Given the description of an element on the screen output the (x, y) to click on. 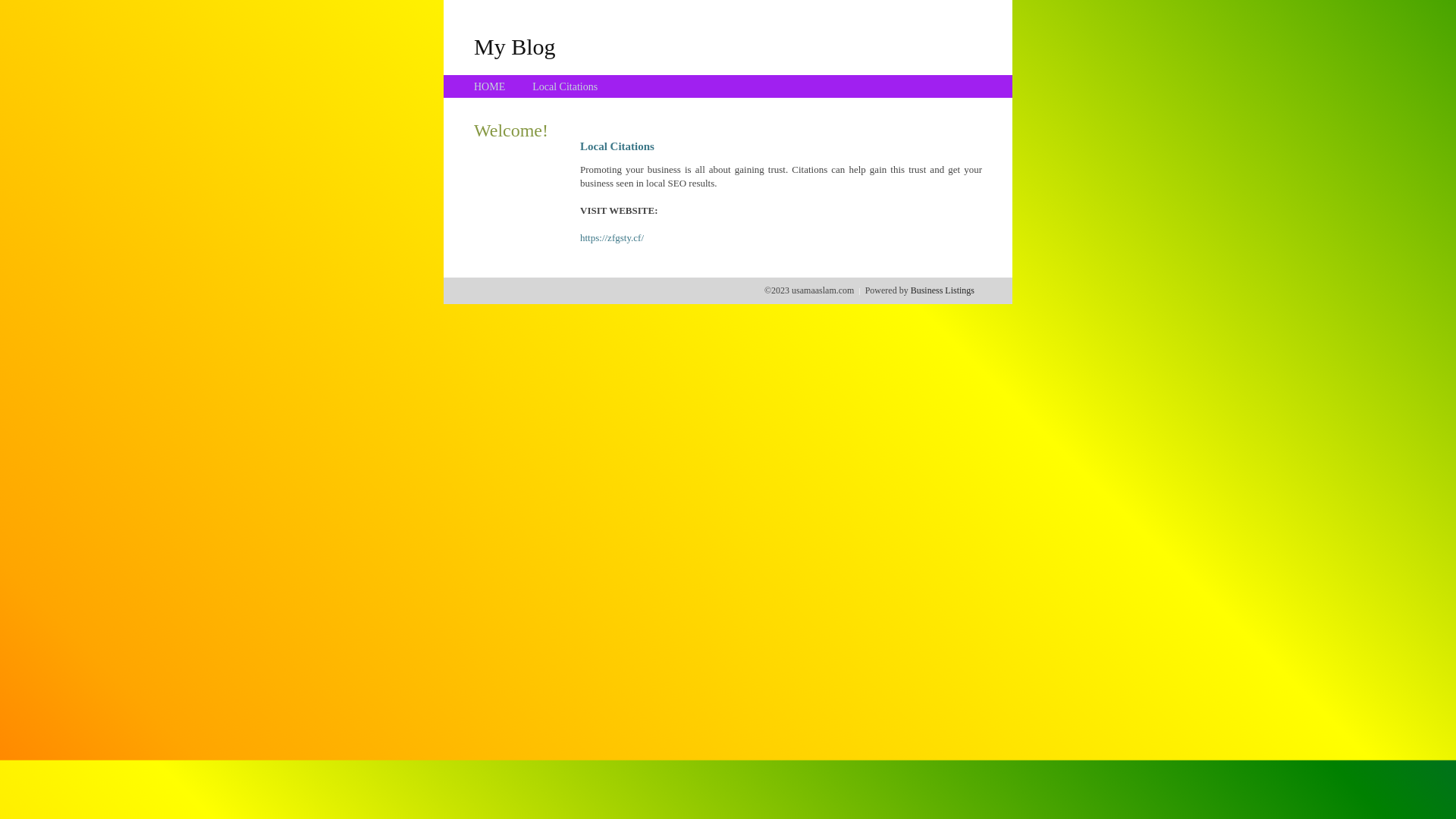
HOME Element type: text (489, 86)
Business Listings Element type: text (942, 290)
Local Citations Element type: text (564, 86)
https://zfgsty.cf/ Element type: text (611, 237)
My Blog Element type: text (514, 46)
